Given the description of an element on the screen output the (x, y) to click on. 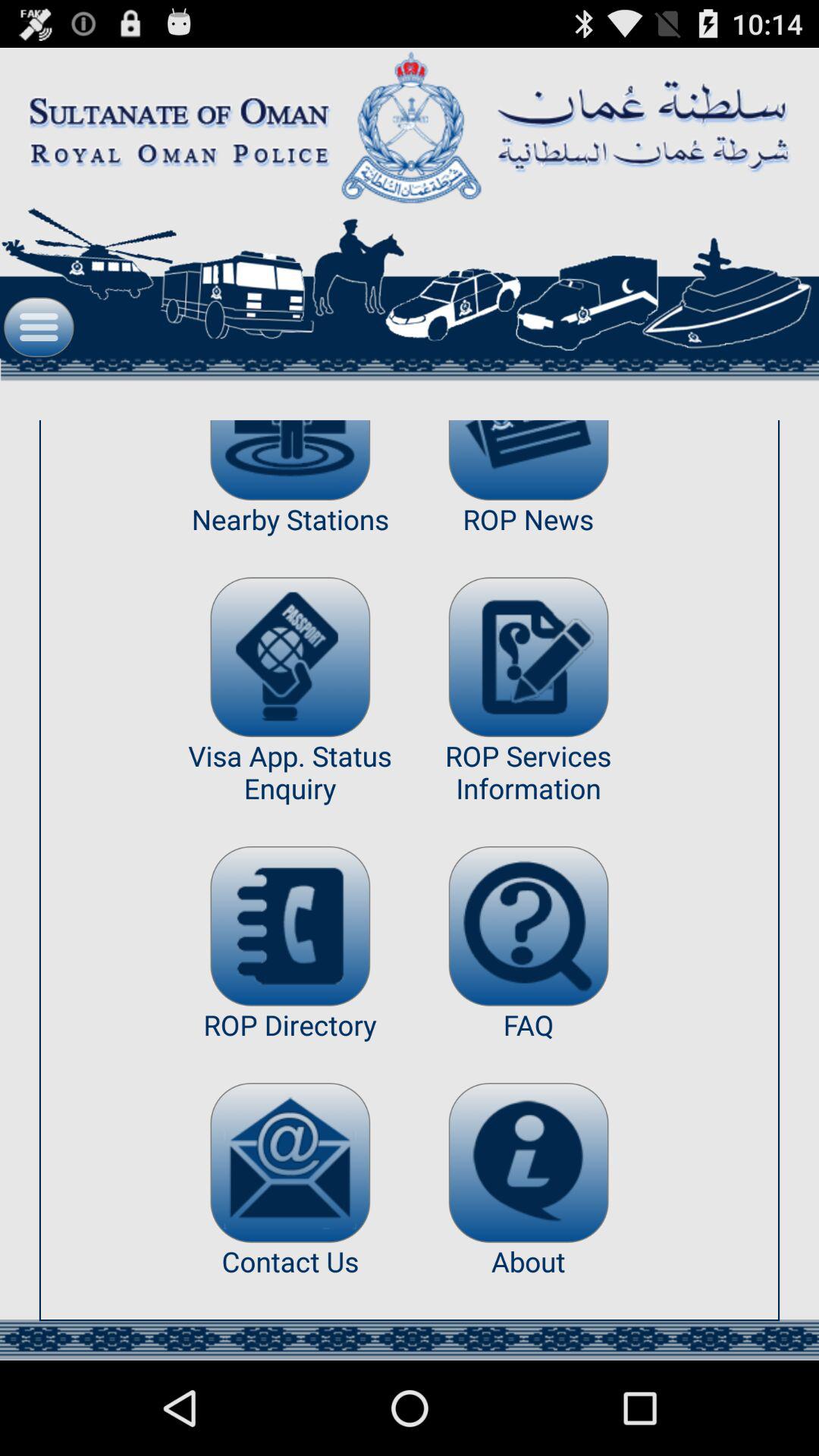
select the app to the left of the rop news item (290, 657)
